Given the description of an element on the screen output the (x, y) to click on. 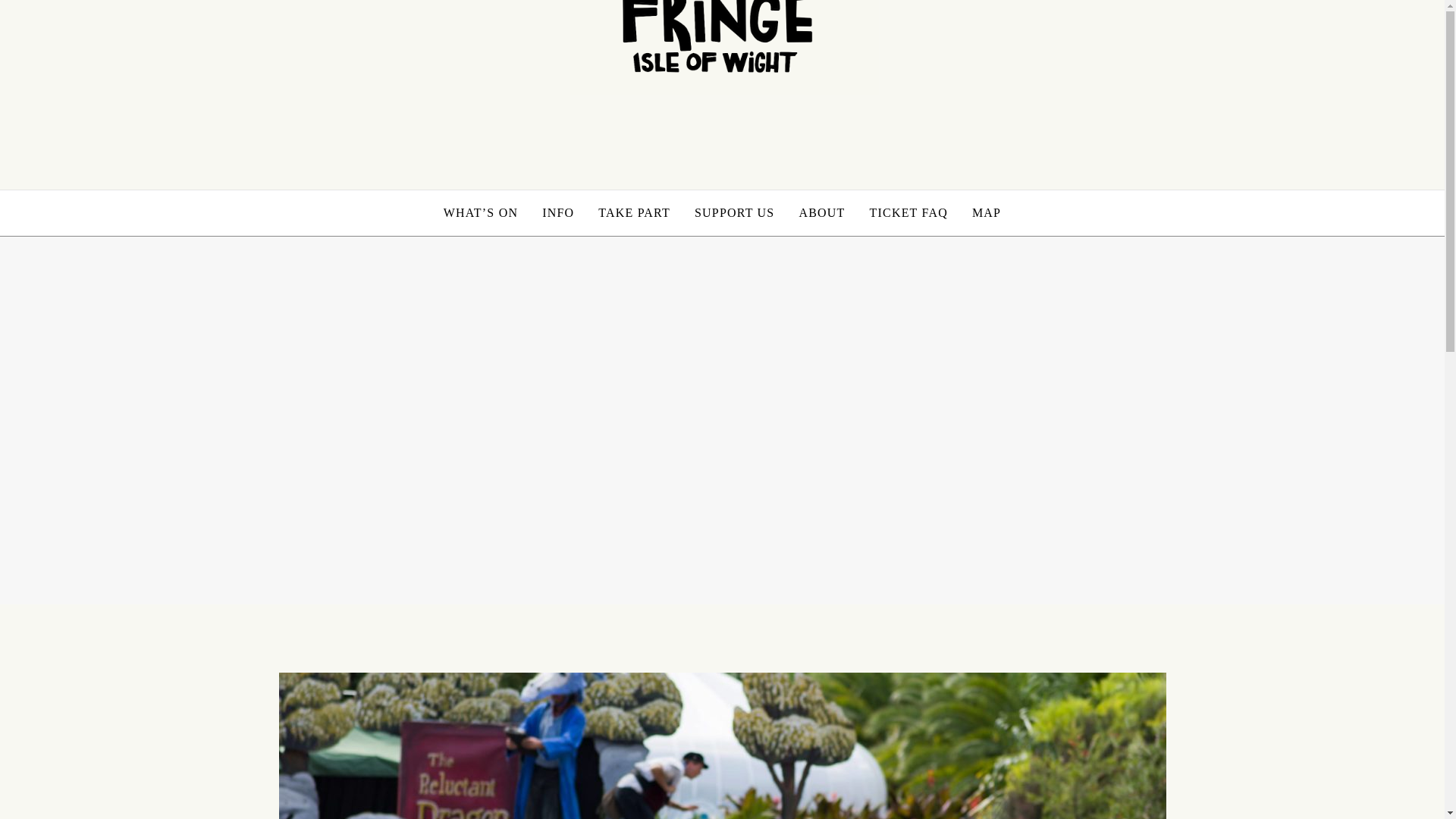
TAKE PART (634, 212)
ABOUT (821, 212)
SUPPORT US (734, 212)
MAP (986, 212)
INFO (557, 212)
TICKET FAQ (908, 212)
